Given the description of an element on the screen output the (x, y) to click on. 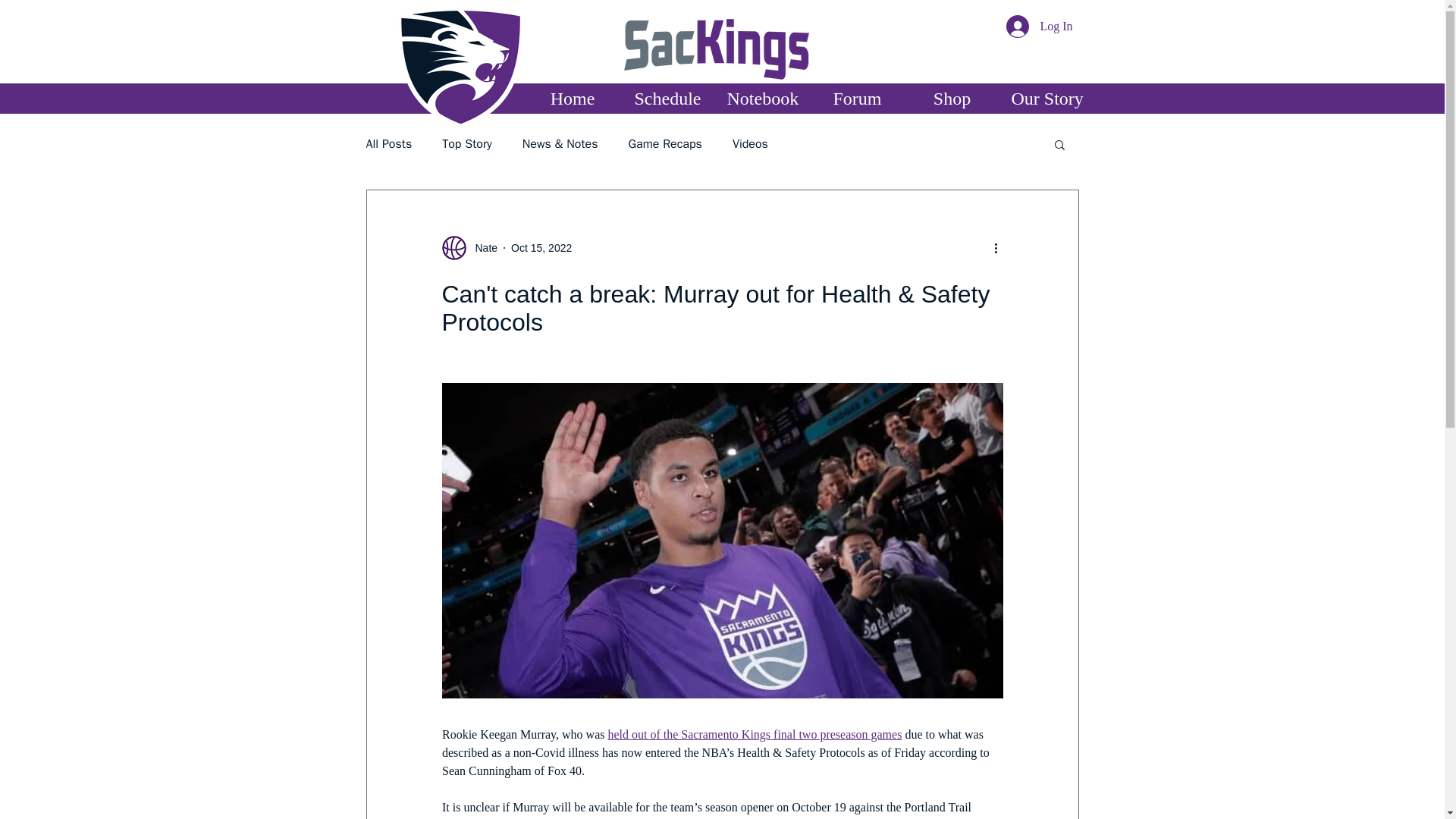
Forum (856, 98)
Our Story (1046, 98)
Schedule (667, 98)
Log In (1039, 26)
Top Story (467, 144)
Videos (750, 144)
Oct 15, 2022 (541, 246)
All Posts (388, 144)
Shop (951, 98)
SacKings.com (460, 67)
